Given the description of an element on the screen output the (x, y) to click on. 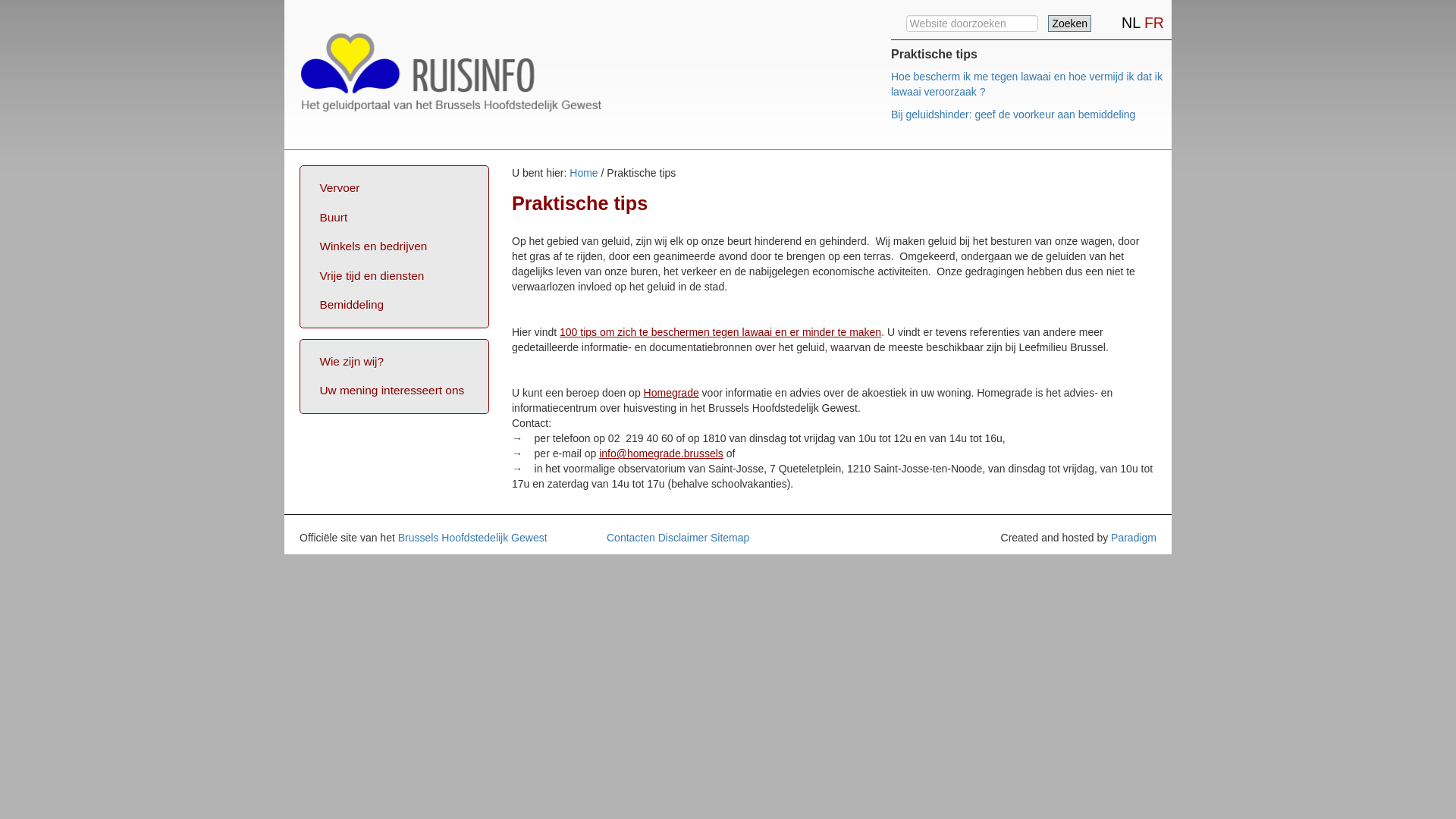
Vrije tijd en diensten Element type: text (395, 276)
Disclaimer Element type: text (682, 537)
Vervoer Element type: text (395, 188)
Home Element type: text (583, 172)
Contacten Element type: text (630, 537)
FR Element type: text (1154, 22)
Bij geluidshinder: geef de voorkeur aan bemiddeling Element type: text (1013, 114)
Website doorzoeken Element type: hover (972, 23)
info@homegrade.brussels Element type: text (661, 453)
Brussels Hoofdstedelijk Gewest Element type: text (472, 537)
Winkels en bedrijven Element type: text (395, 246)
Homegrade Element type: text (671, 392)
NL Element type: text (1132, 22)
Sitemap Element type: text (729, 537)
Uw mening interesseert ons Element type: text (395, 390)
Paradigm Element type: text (1133, 537)
Zoeken Element type: text (1069, 23)
Buurt Element type: text (395, 217)
Bemiddeling Element type: text (395, 304)
Wie zijn wij? Element type: text (395, 361)
